Given the description of an element on the screen output the (x, y) to click on. 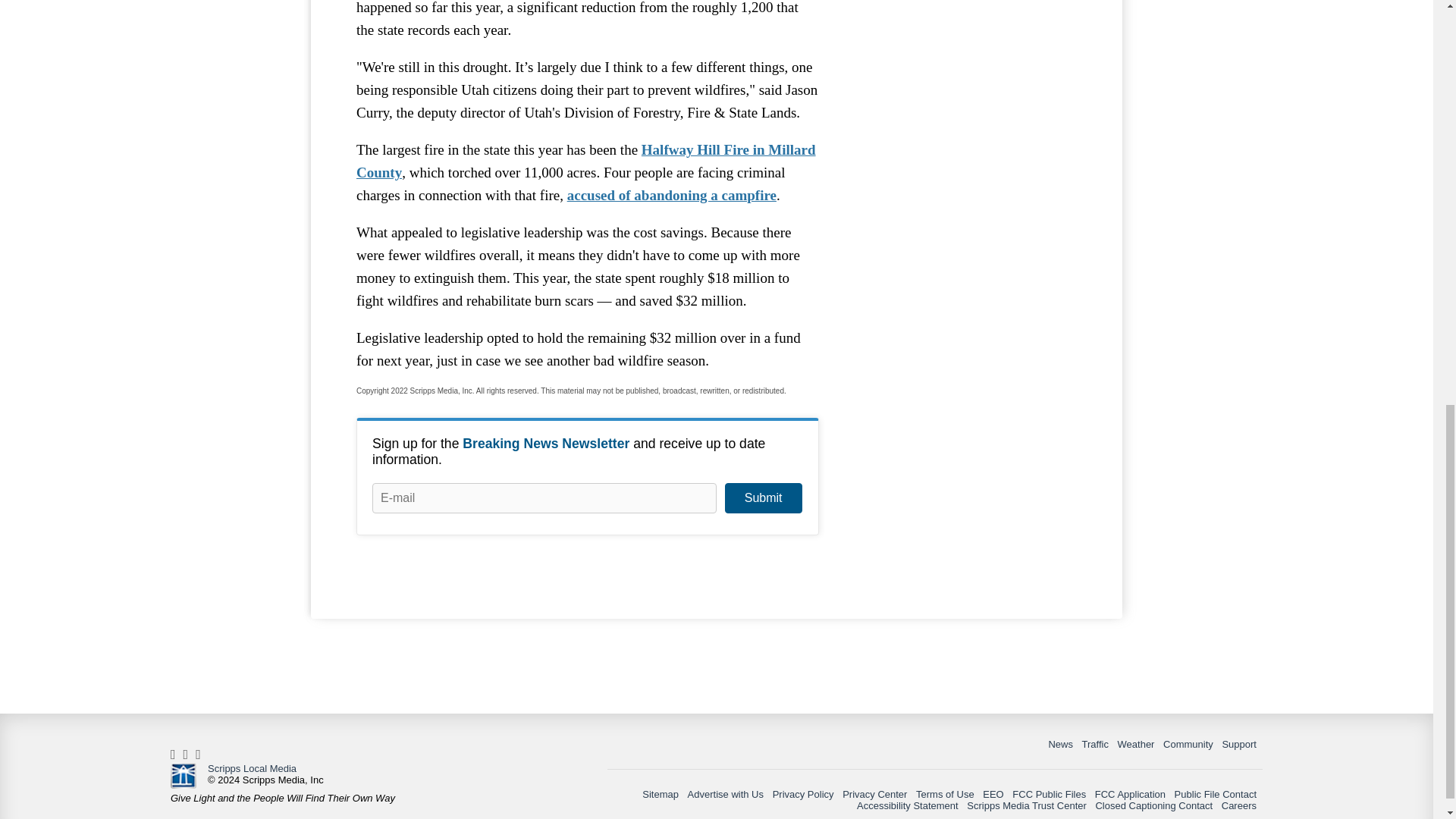
Submit (763, 498)
